Given the description of an element on the screen output the (x, y) to click on. 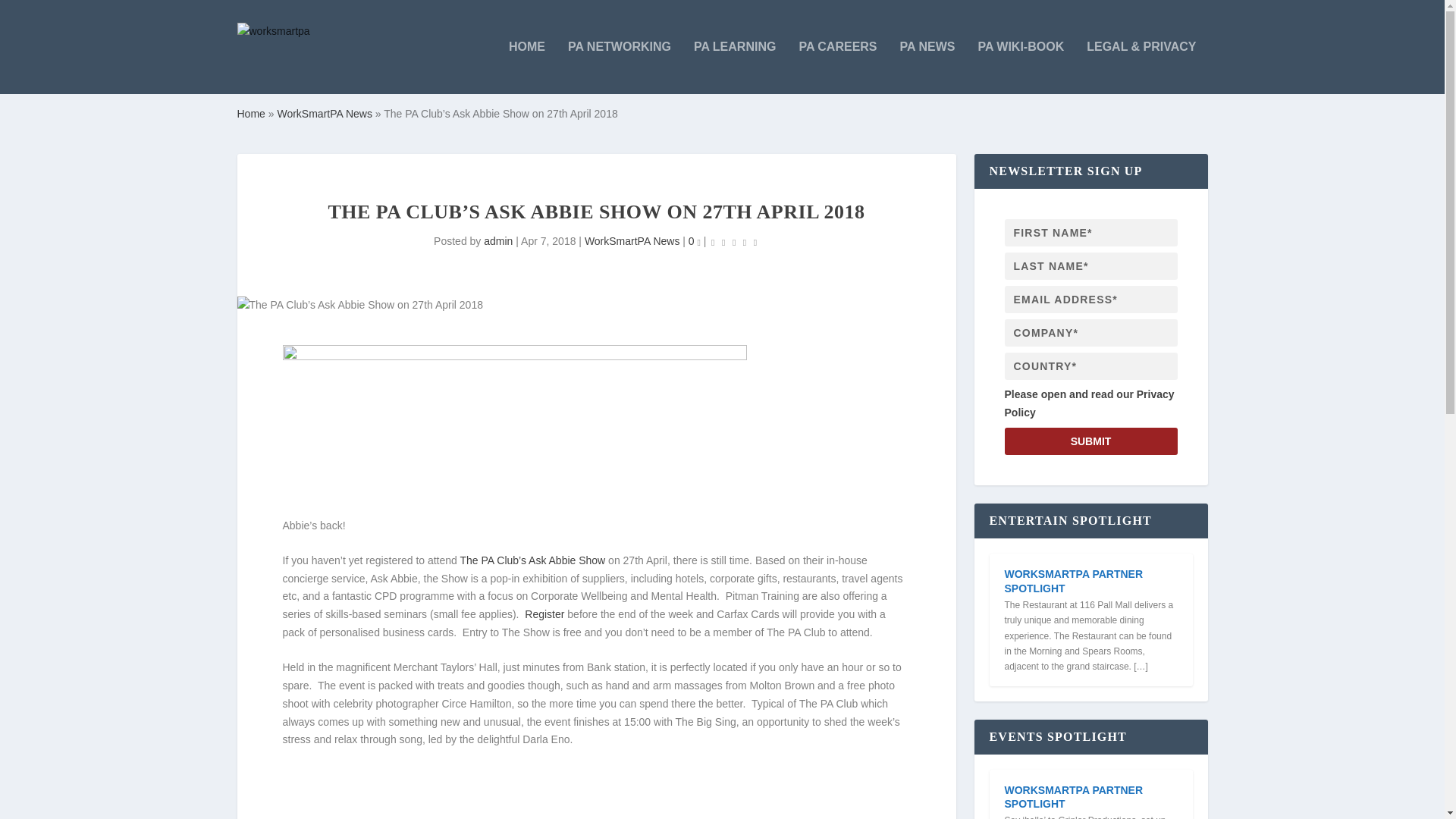
Go to worksmartpa. (249, 113)
PA NEWS (927, 67)
Posts by admin (497, 241)
PA NETWORKING (619, 67)
PA CAREERS (836, 67)
Submit (1090, 441)
Home (249, 113)
Please open and read our Privacy Policy (1088, 403)
Submit (1090, 441)
Rating: 0.00 (733, 241)
